Given the description of an element on the screen output the (x, y) to click on. 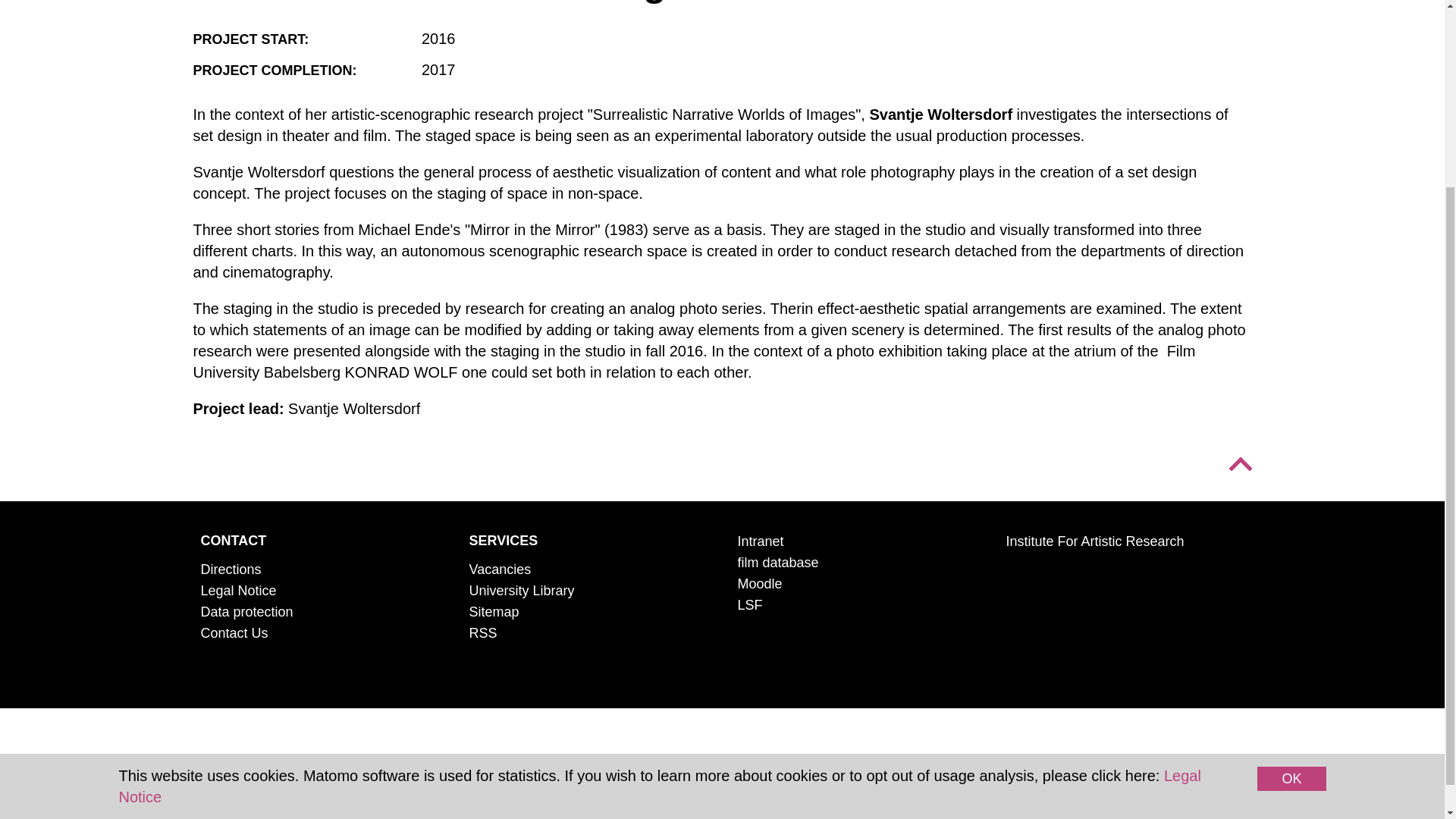
OK (1290, 535)
To top (1239, 463)
Legal Notice (658, 543)
